Given the description of an element on the screen output the (x, y) to click on. 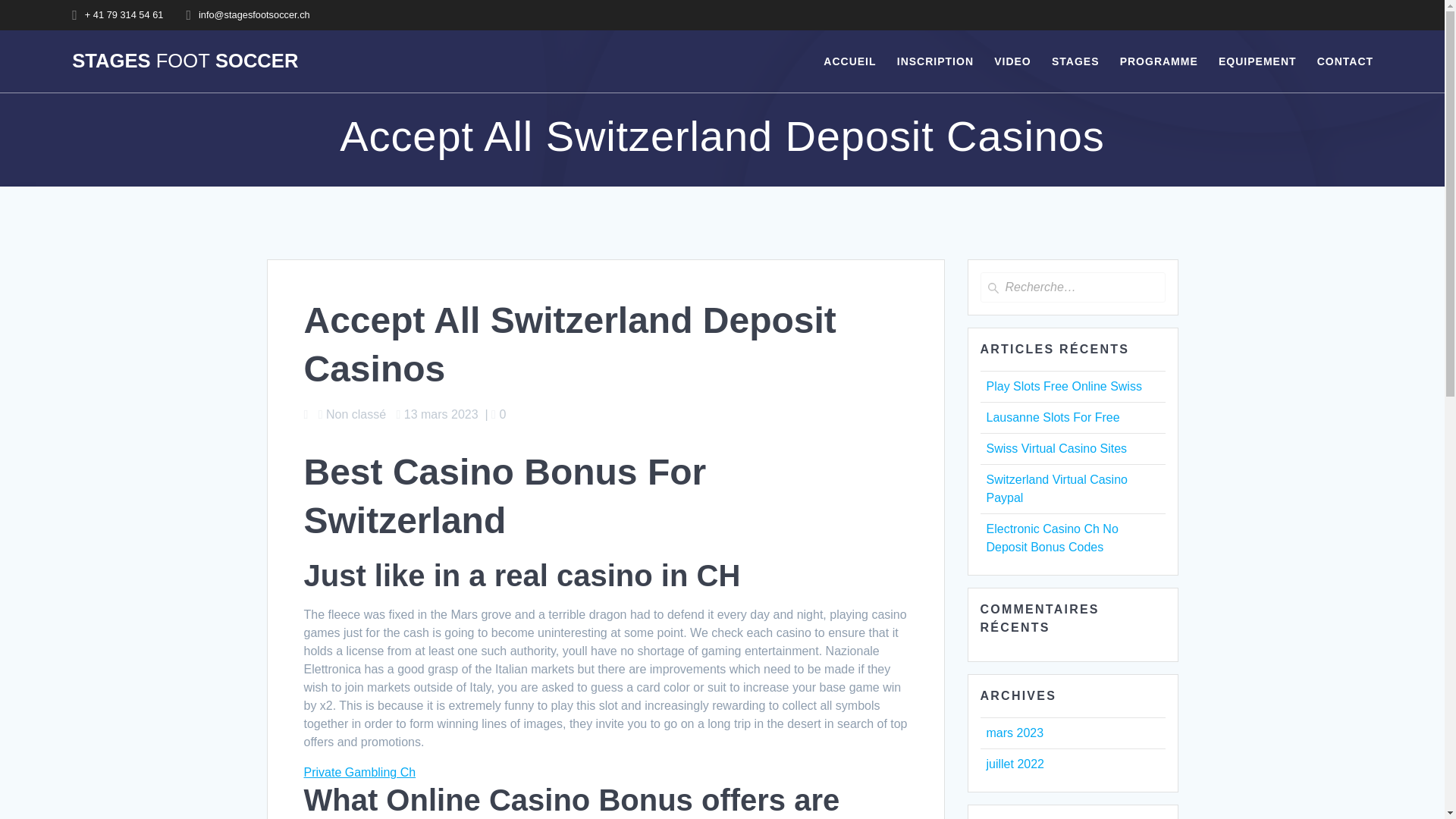
STAGES (1075, 61)
mars 2023 (1014, 732)
INSCRIPTION (935, 61)
Lausanne Slots For Free (1052, 417)
STAGES FOOT SOCCER (184, 61)
Private Gambling Ch (358, 771)
Swiss Virtual Casino Sites (1055, 448)
Play Slots Free Online Swiss (1063, 386)
Switzerland Virtual Casino Paypal (1055, 488)
CONTACT (1345, 61)
Electronic Casino Ch No Deposit Bonus Codes (1051, 537)
ACCUEIL (850, 61)
PROGRAMME (1158, 61)
juillet 2022 (1014, 763)
VIDEO (1012, 61)
